Given the description of an element on the screen output the (x, y) to click on. 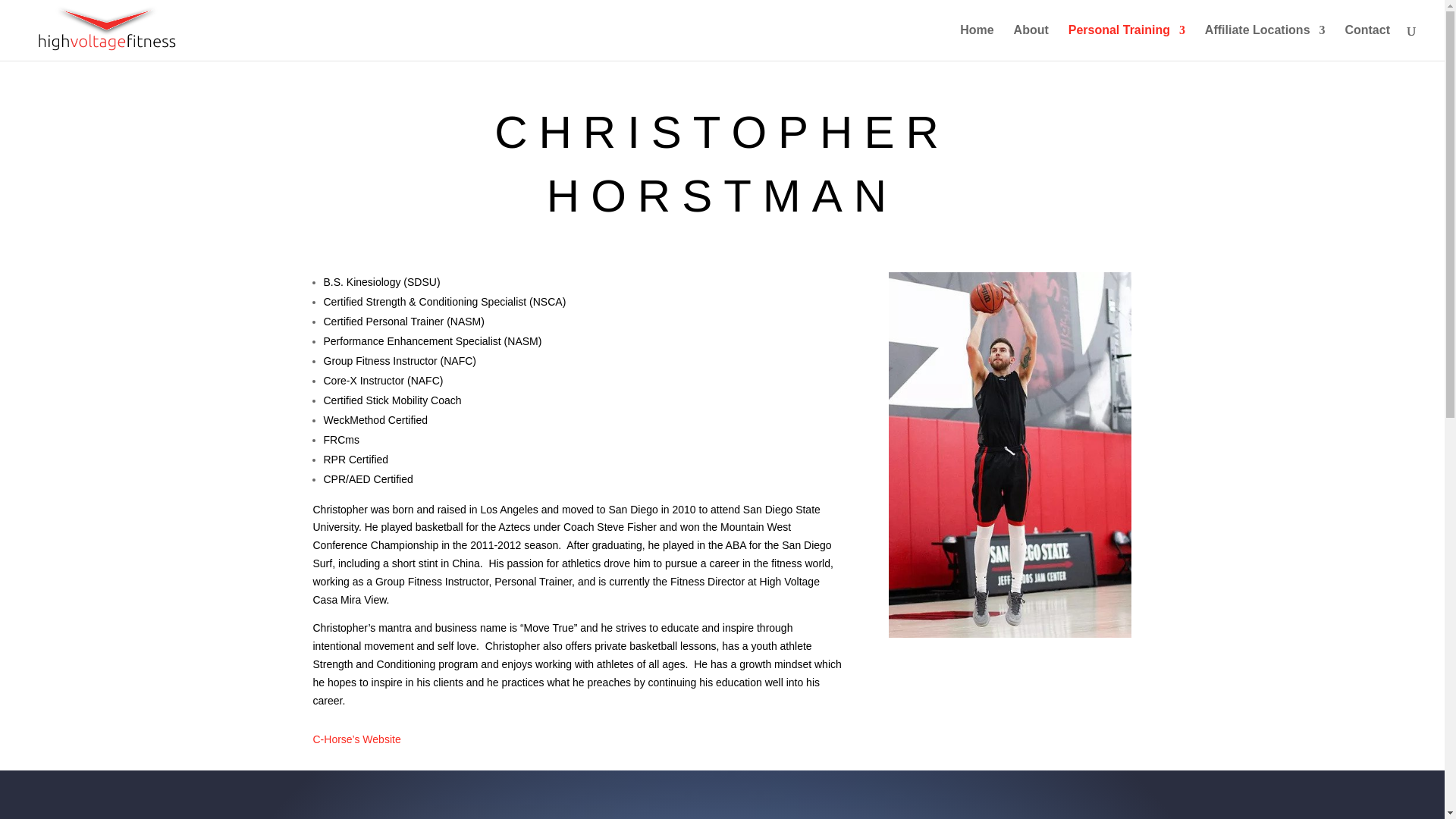
Affiliate Locations (1264, 42)
Contact (1366, 42)
Personal Training (1126, 42)
Home (975, 42)
About (1030, 42)
